Given the description of an element on the screen output the (x, y) to click on. 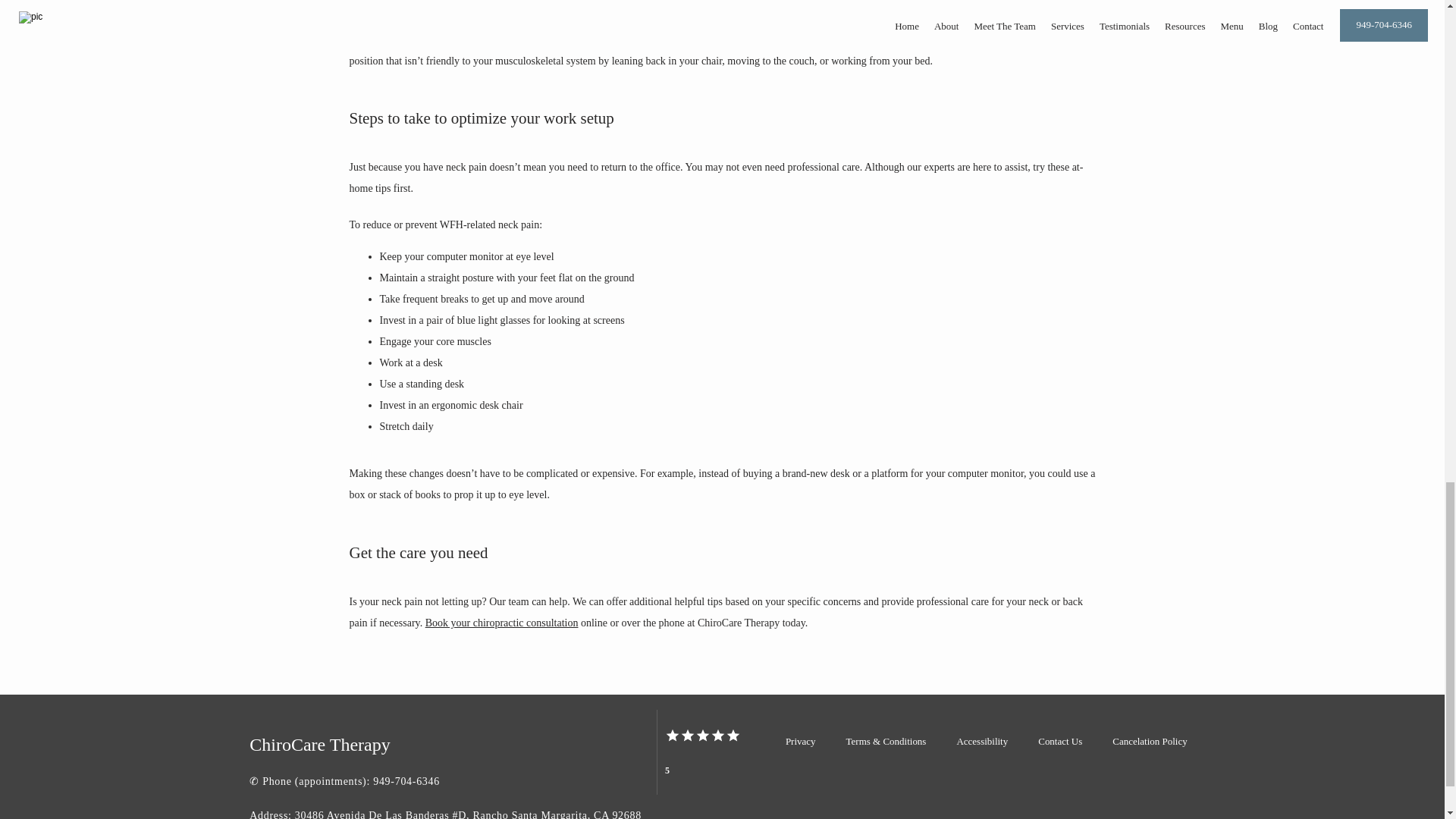
Book your chiropractic consultation (501, 622)
Accessibility (981, 740)
Privacy (800, 740)
Cancelation Policy (1149, 740)
Contact Us (1059, 740)
